Given the description of an element on the screen output the (x, y) to click on. 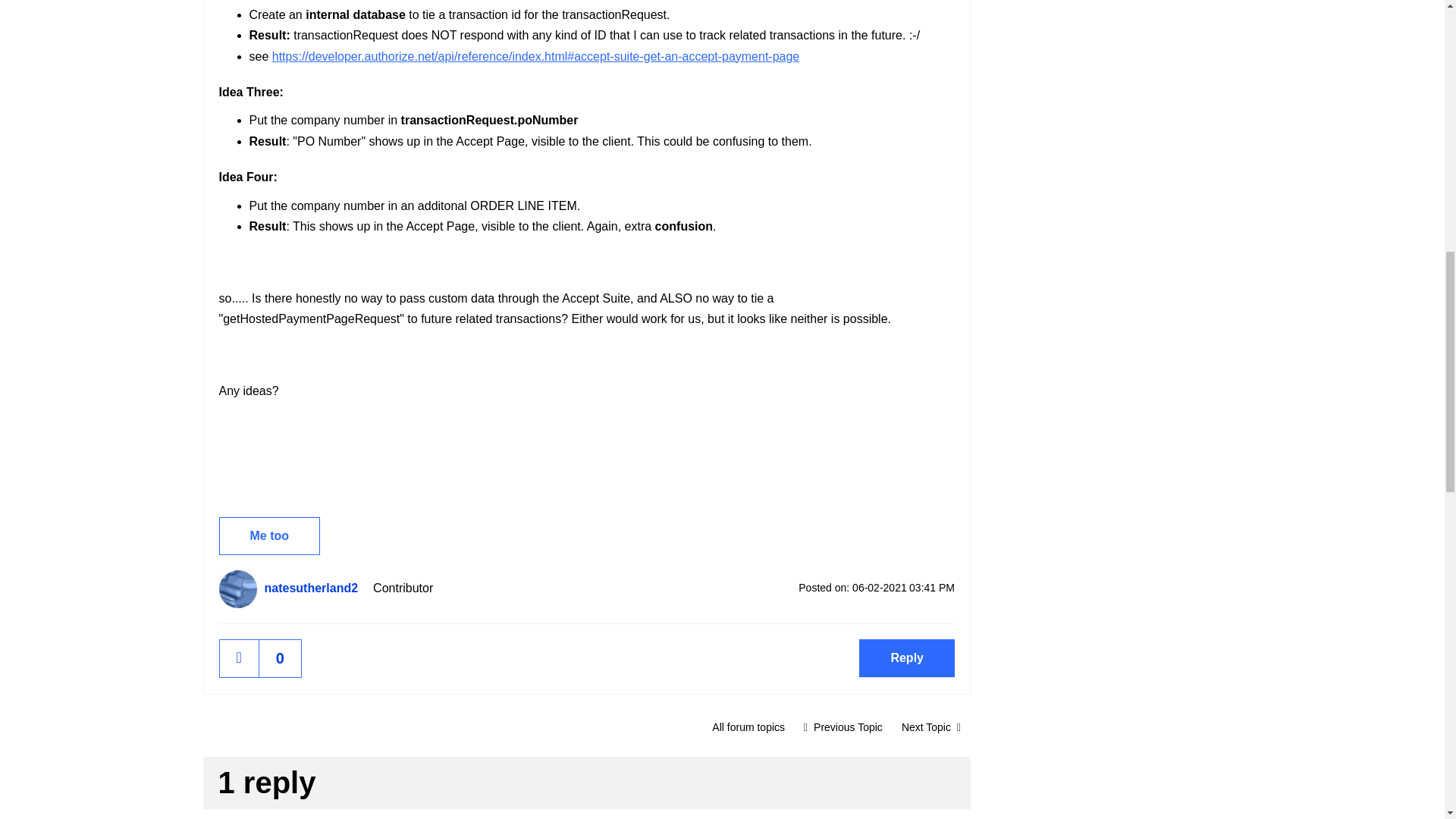
natesutherland2 (314, 587)
Me too (269, 535)
Click here to give kudos to this post. (239, 658)
Idea to limit spam in this forum (931, 727)
natesutherland2 (237, 589)
Click here if you had a similar experience (269, 535)
Integration and Testing (747, 727)
The total number of kudos this post has received. (280, 657)
"Webhook" VS "Silent Post" and custom fields (842, 727)
